Given the description of an element on the screen output the (x, y) to click on. 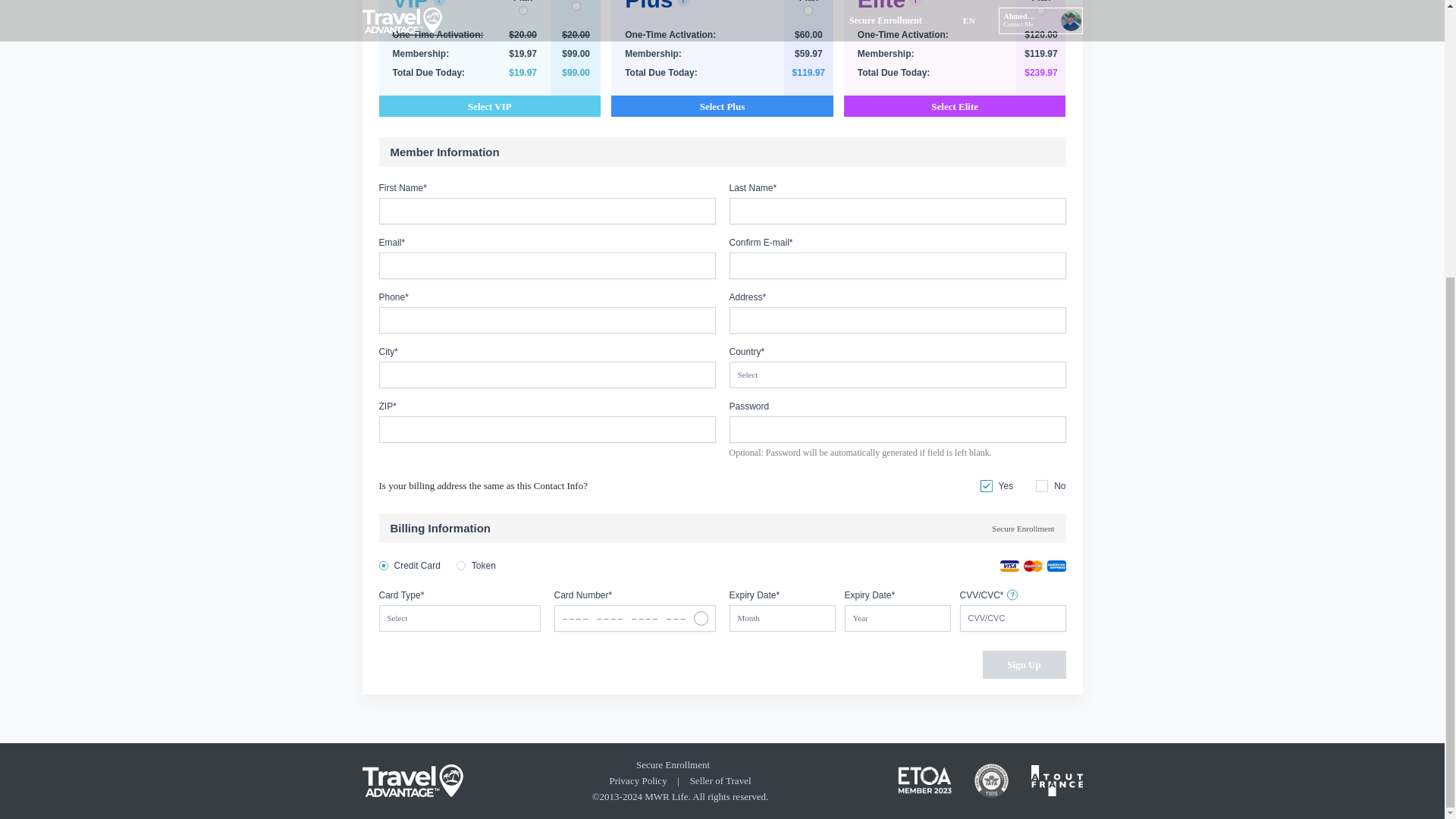
Seller of Travel (720, 781)
Privacy Policy (637, 781)
i (438, 2)
Secure Enrollment (1015, 527)
Sign Up (1023, 664)
Select Plus (721, 106)
Chat (1406, 367)
i (682, 2)
Select VIP (489, 106)
Select Elite (954, 106)
i (914, 2)
